Given the description of an element on the screen output the (x, y) to click on. 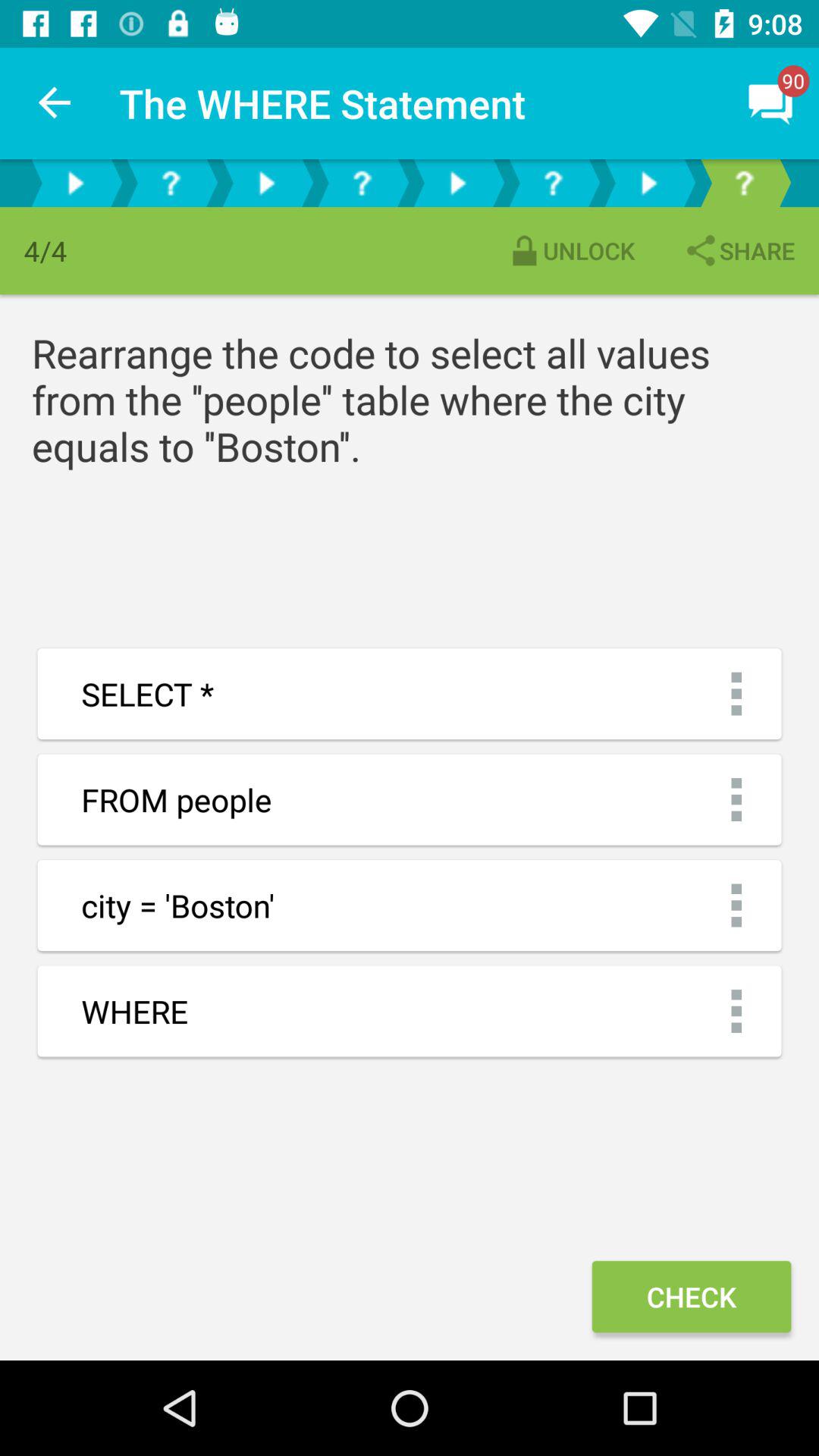
scroll to check (691, 1296)
